Given the description of an element on the screen output the (x, y) to click on. 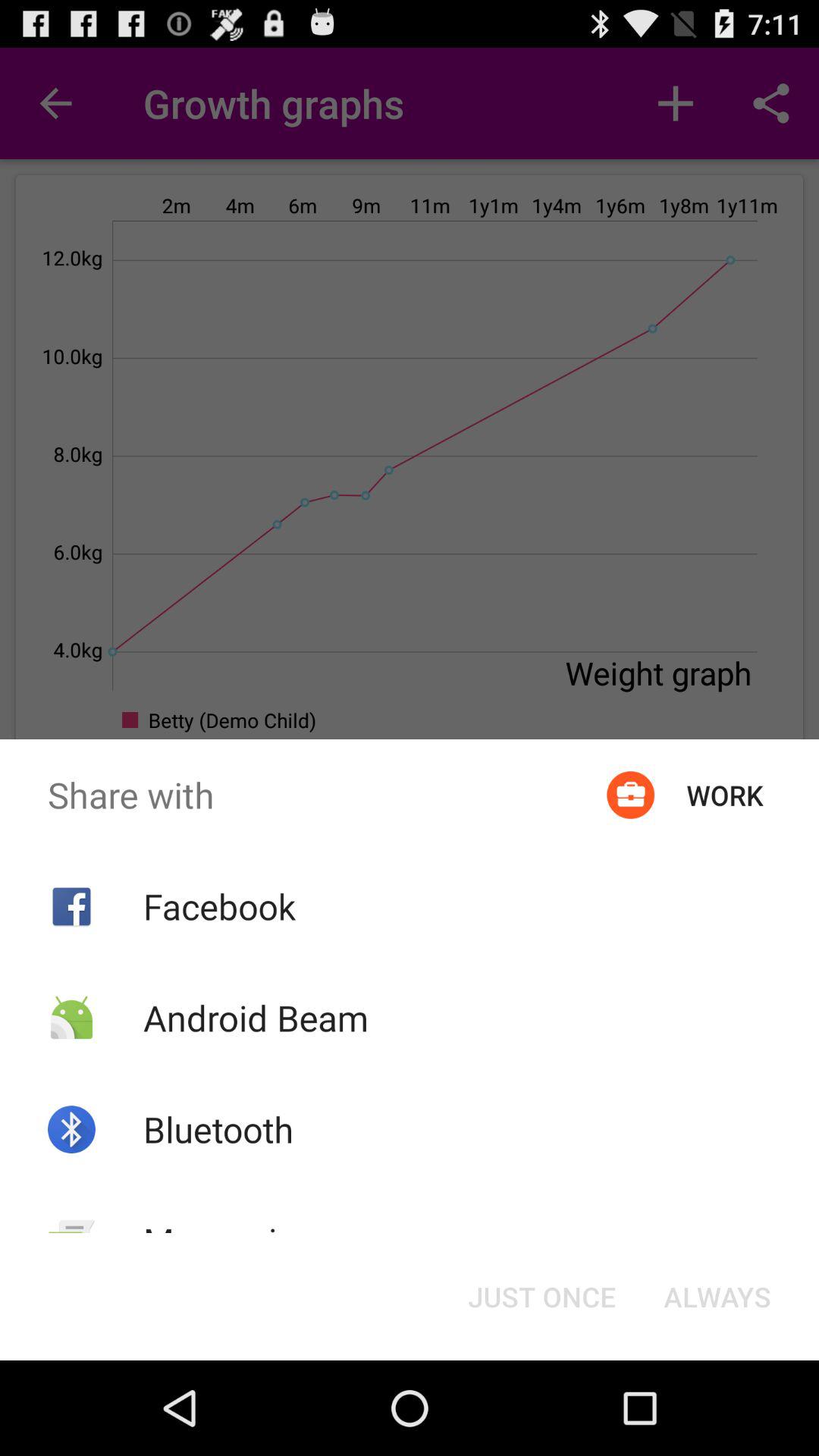
select item next to messaging icon (541, 1296)
